Given the description of an element on the screen output the (x, y) to click on. 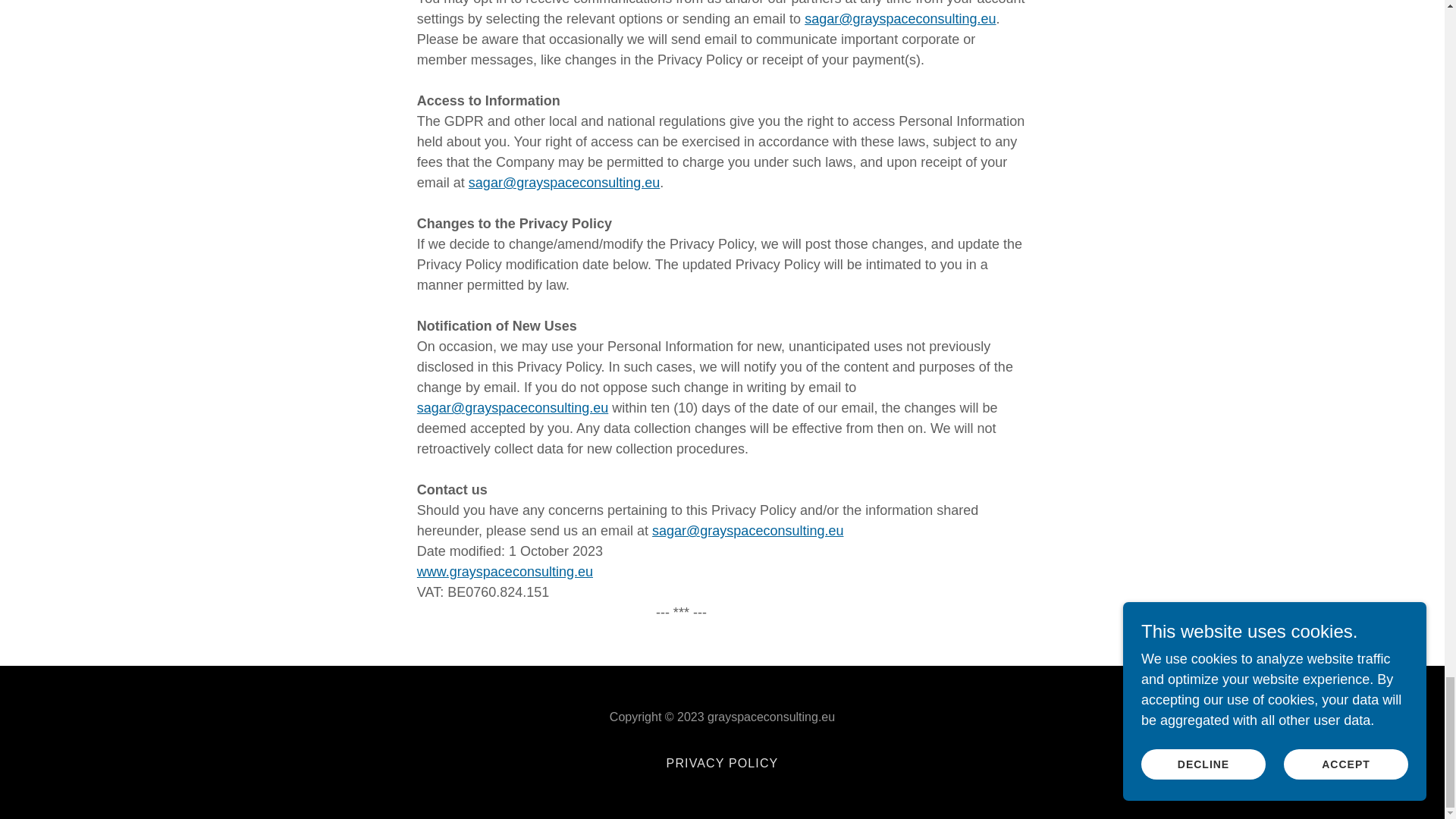
PRIVACY POLICY (722, 763)
www.grayspaceconsulting.eu (504, 571)
